Given the description of an element on the screen output the (x, y) to click on. 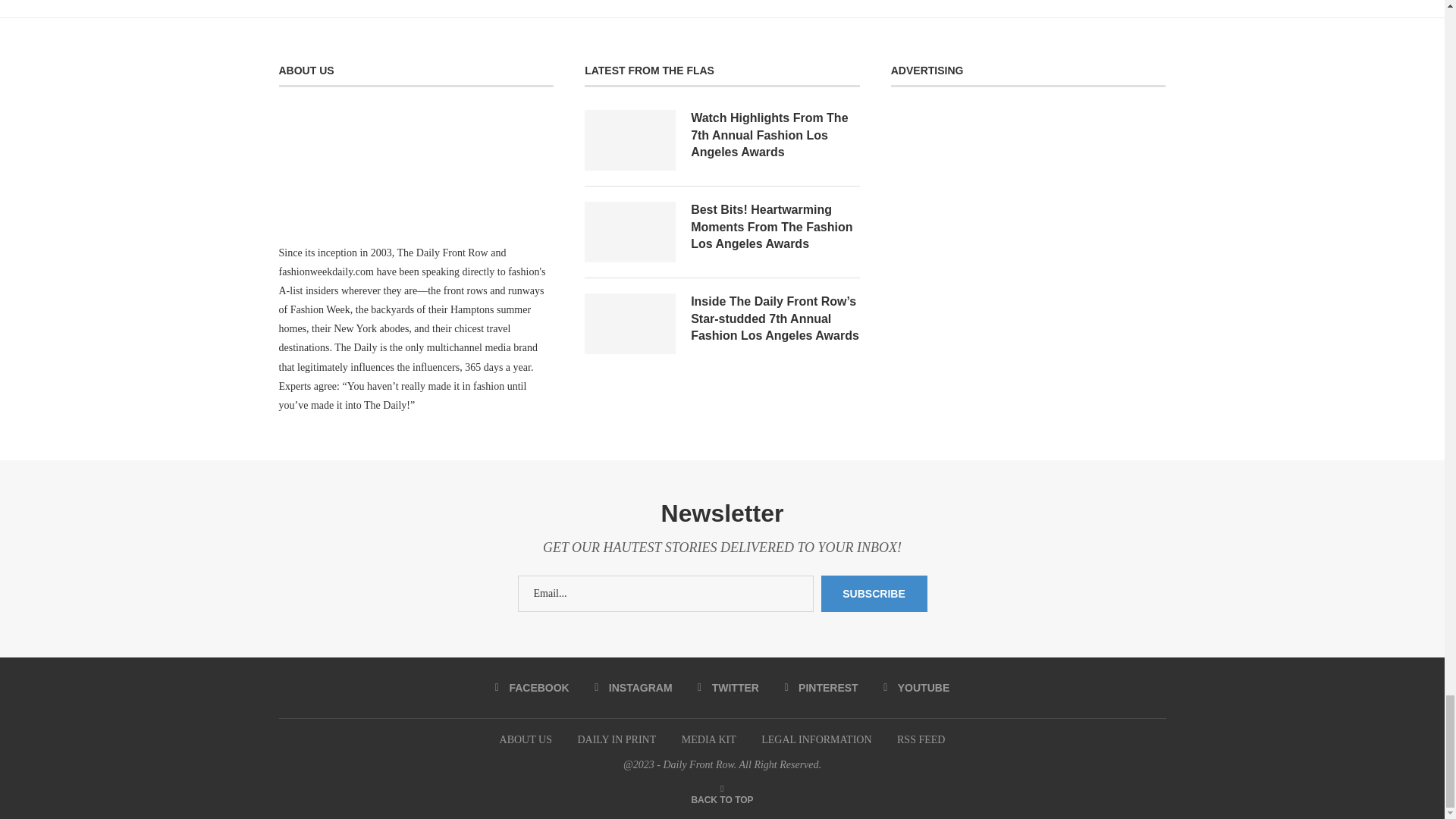
Subscribe (873, 593)
